Given the description of an element on the screen output the (x, y) to click on. 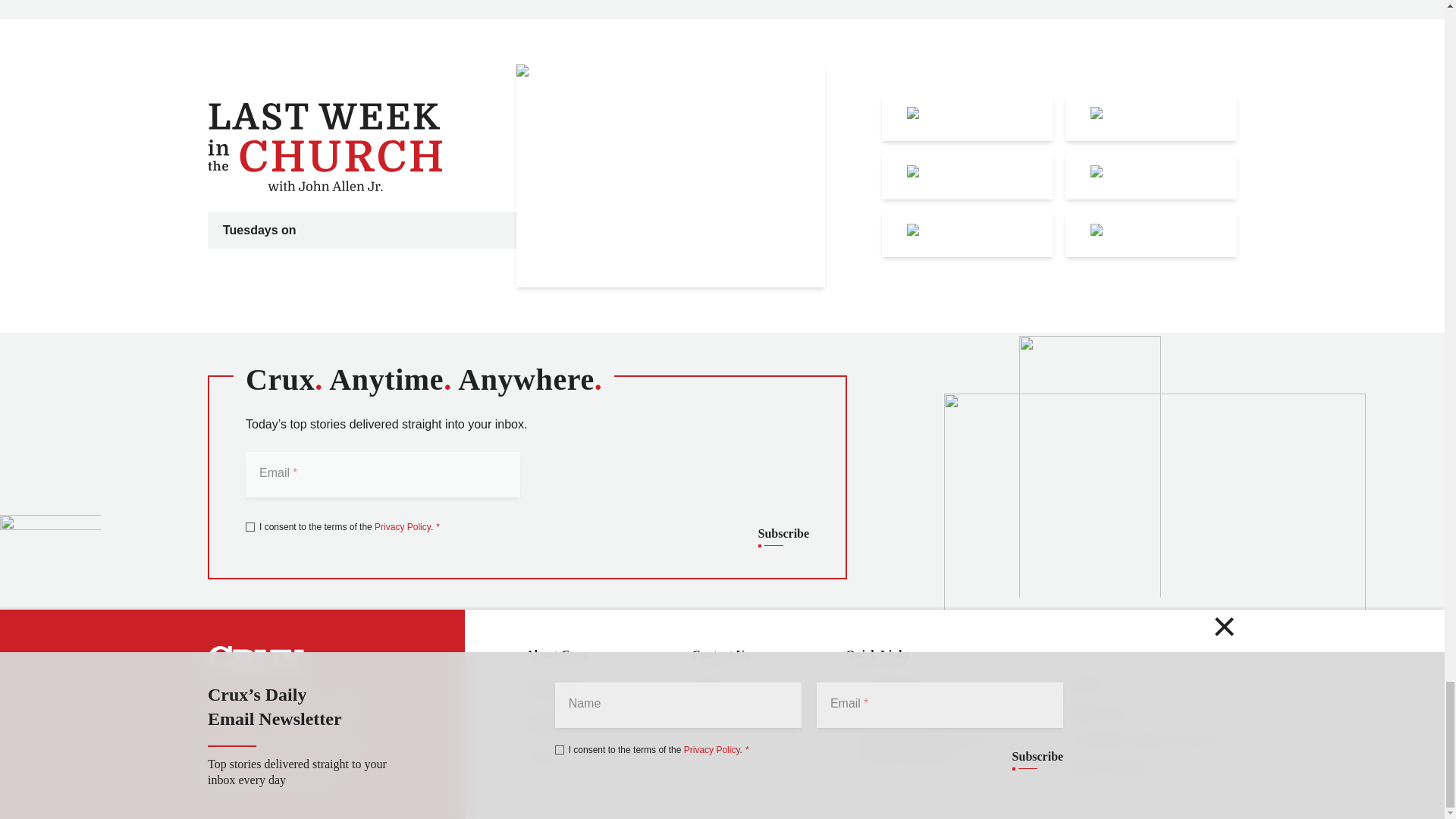
true (250, 526)
